Given the description of an element on the screen output the (x, y) to click on. 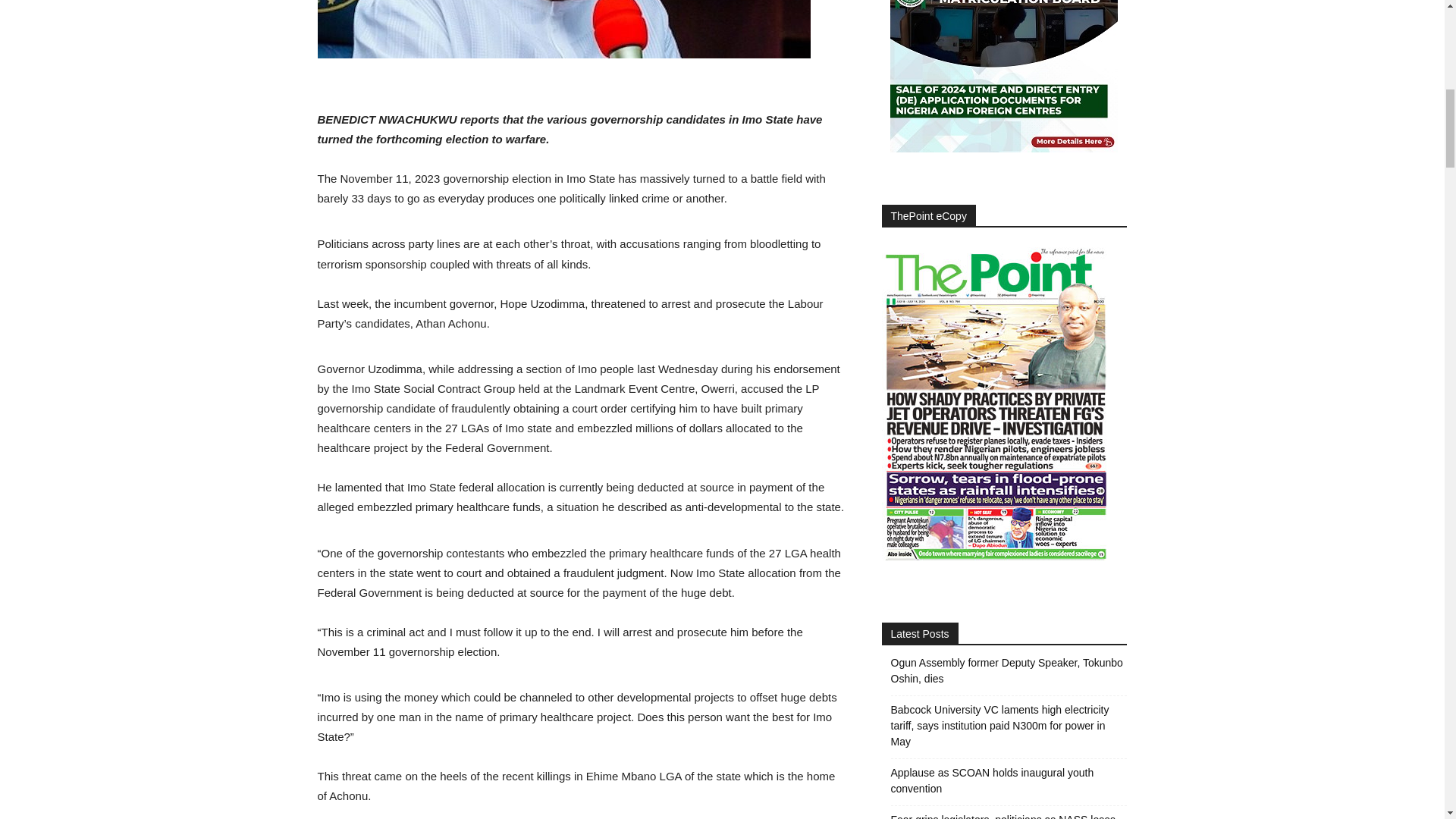
Hope-Uzodinma (563, 29)
